Given the description of an element on the screen output the (x, y) to click on. 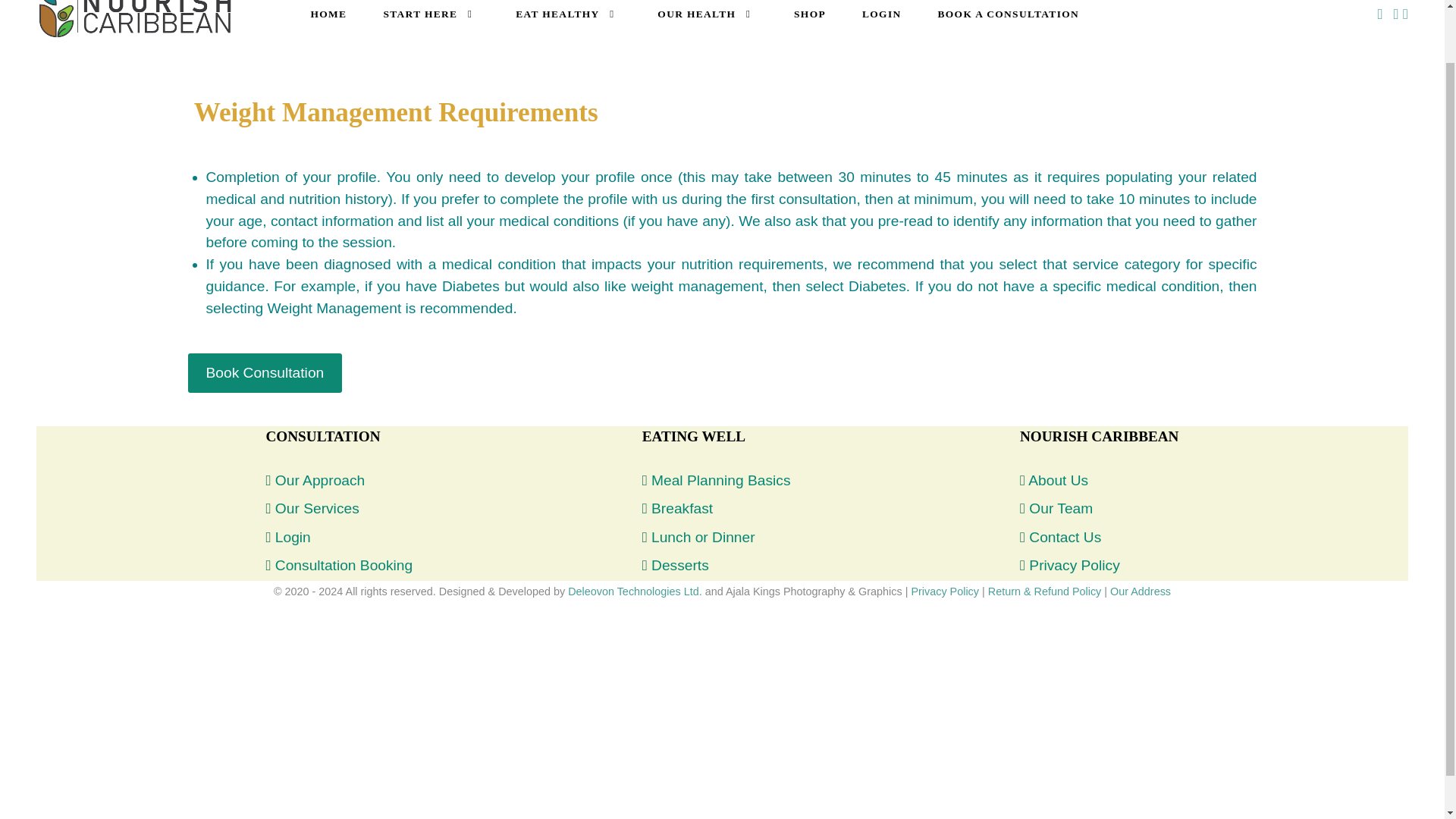
Our Services (317, 508)
Desserts (679, 565)
Our Approach (320, 480)
HOME (328, 13)
Our Services (317, 508)
Consultation Booking (343, 565)
Contact Us (1064, 537)
Meal Planning Basics (720, 480)
About Us (1057, 480)
LOGIN (882, 13)
Our Team (1061, 508)
SHOP (810, 13)
Our Approach (320, 480)
BOOK A CONSULTATION (1008, 13)
Consultation Booking (343, 565)
